Given the description of an element on the screen output the (x, y) to click on. 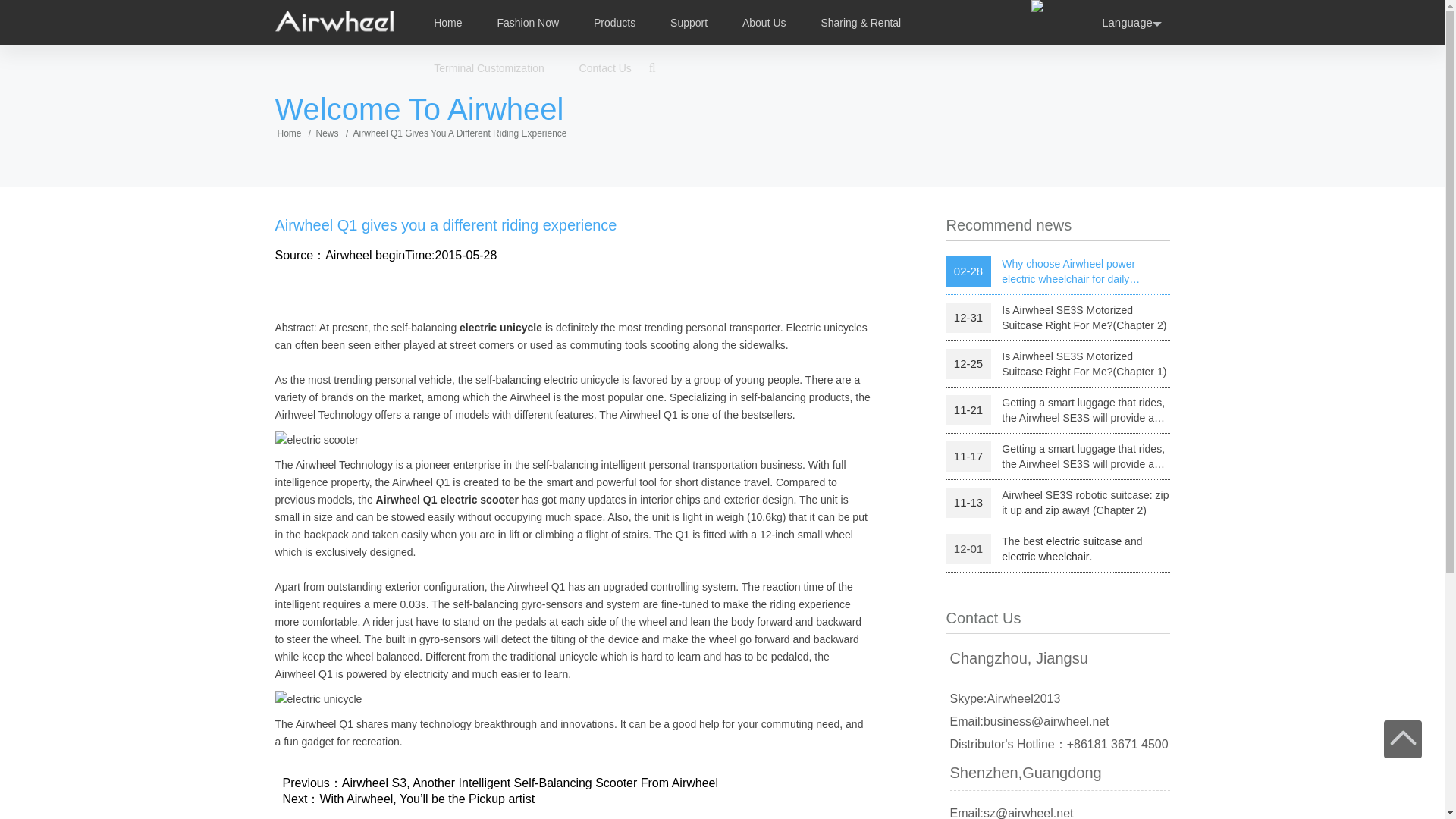
Home (447, 22)
Terminal Customization (488, 68)
Contact Us (605, 68)
Support (688, 22)
Products (614, 22)
